Given the description of an element on the screen output the (x, y) to click on. 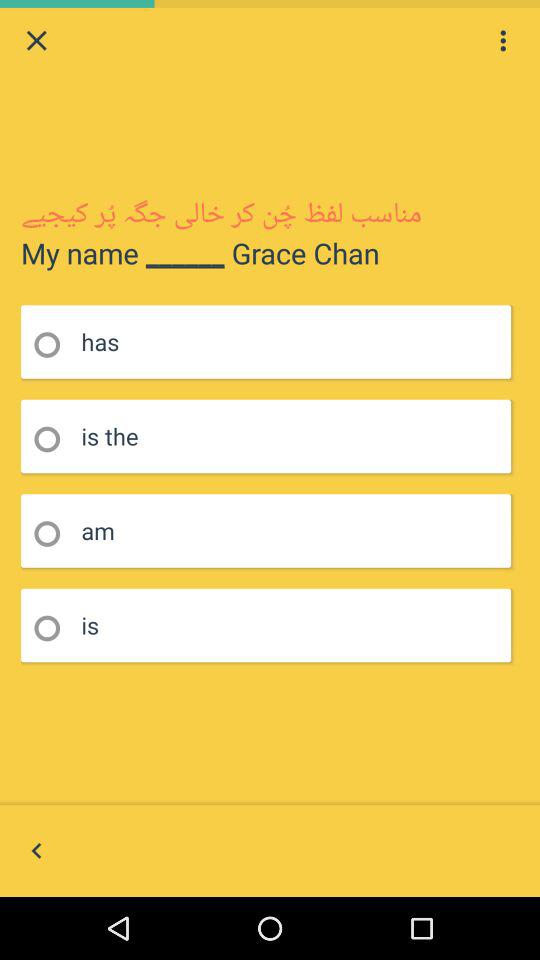
open the icon at the top right corner (503, 40)
